Given the description of an element on the screen output the (x, y) to click on. 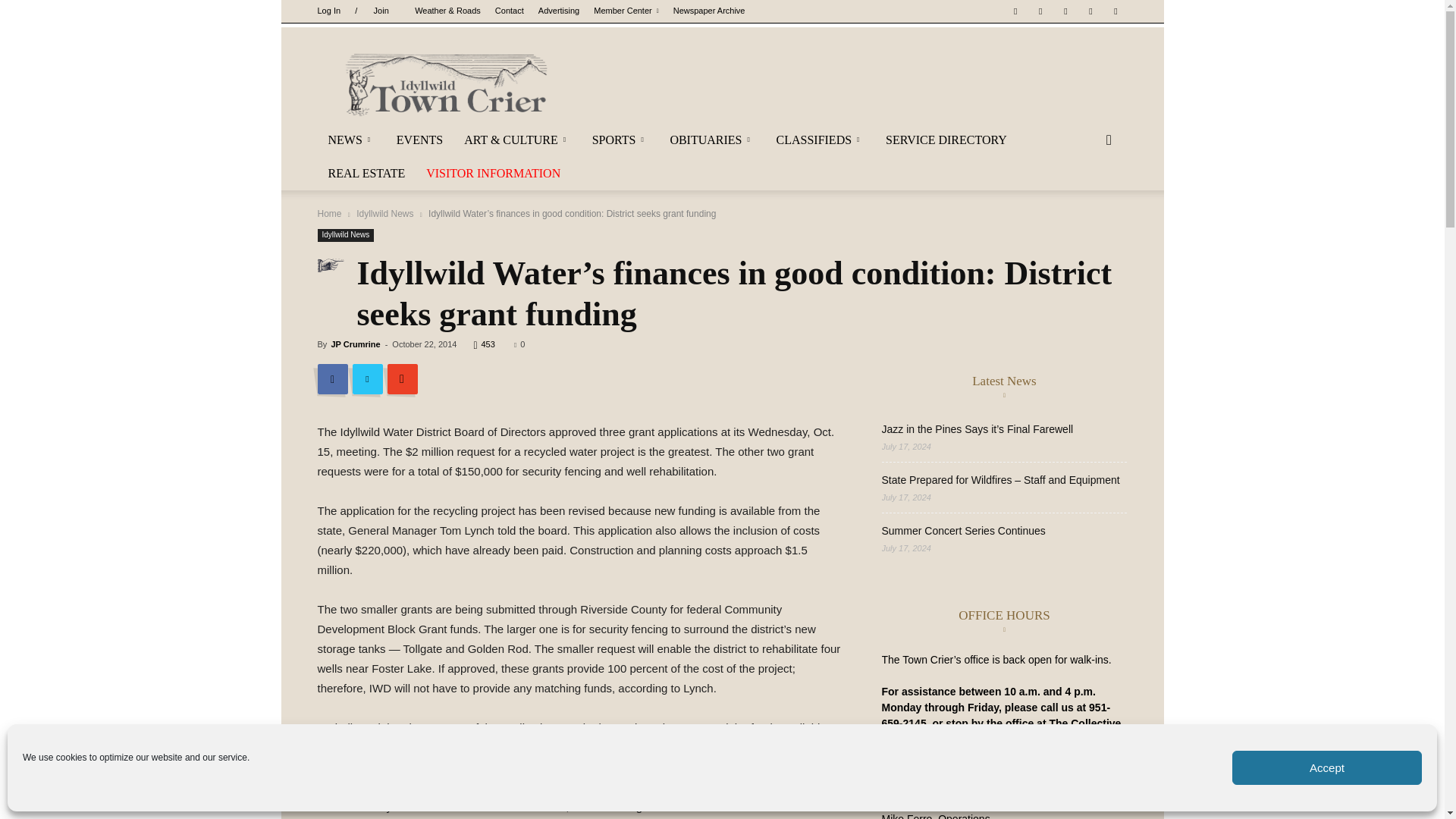
Linkedin (1065, 10)
Twitter (1090, 10)
Accept (1326, 767)
Youtube (1114, 10)
Facebook (1015, 10)
